Given the description of an element on the screen output the (x, y) to click on. 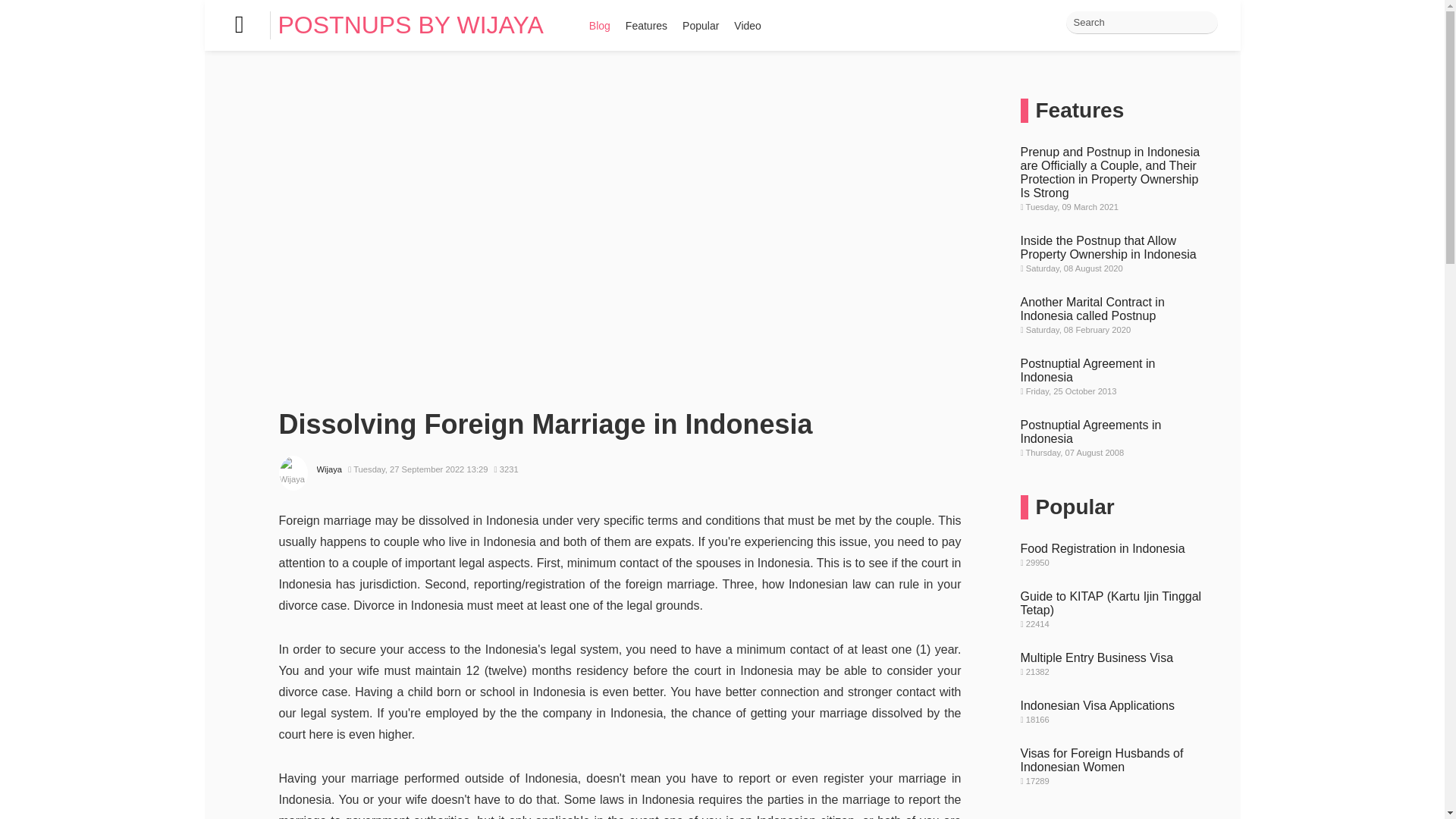
Video (747, 24)
Popular (700, 24)
Wijaya (329, 468)
Features (646, 24)
Blog (599, 24)
POSTNUPS BY WIJAYA (410, 24)
Search (1141, 22)
Click to preview image (619, 385)
